Given the description of an element on the screen output the (x, y) to click on. 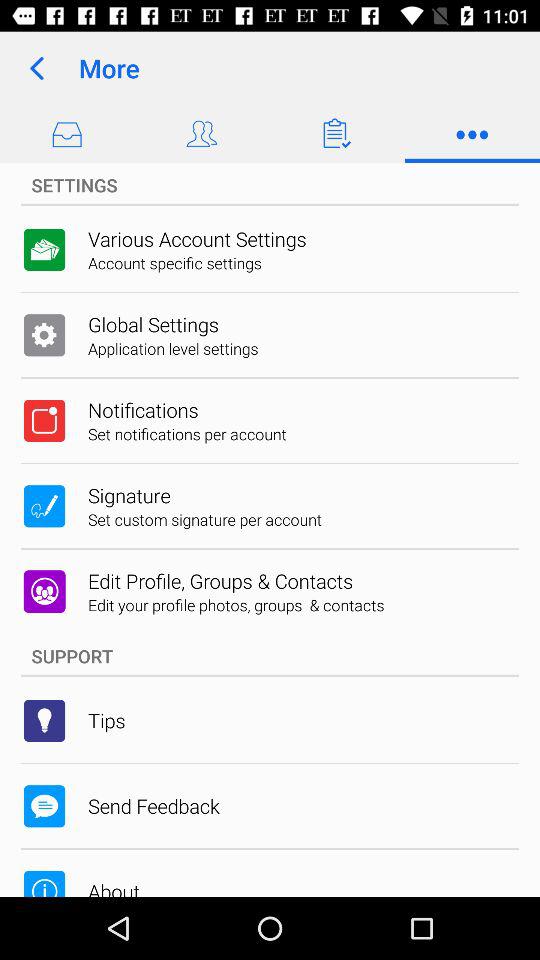
turn on the app above edit profile groups icon (205, 519)
